Given the description of an element on the screen output the (x, y) to click on. 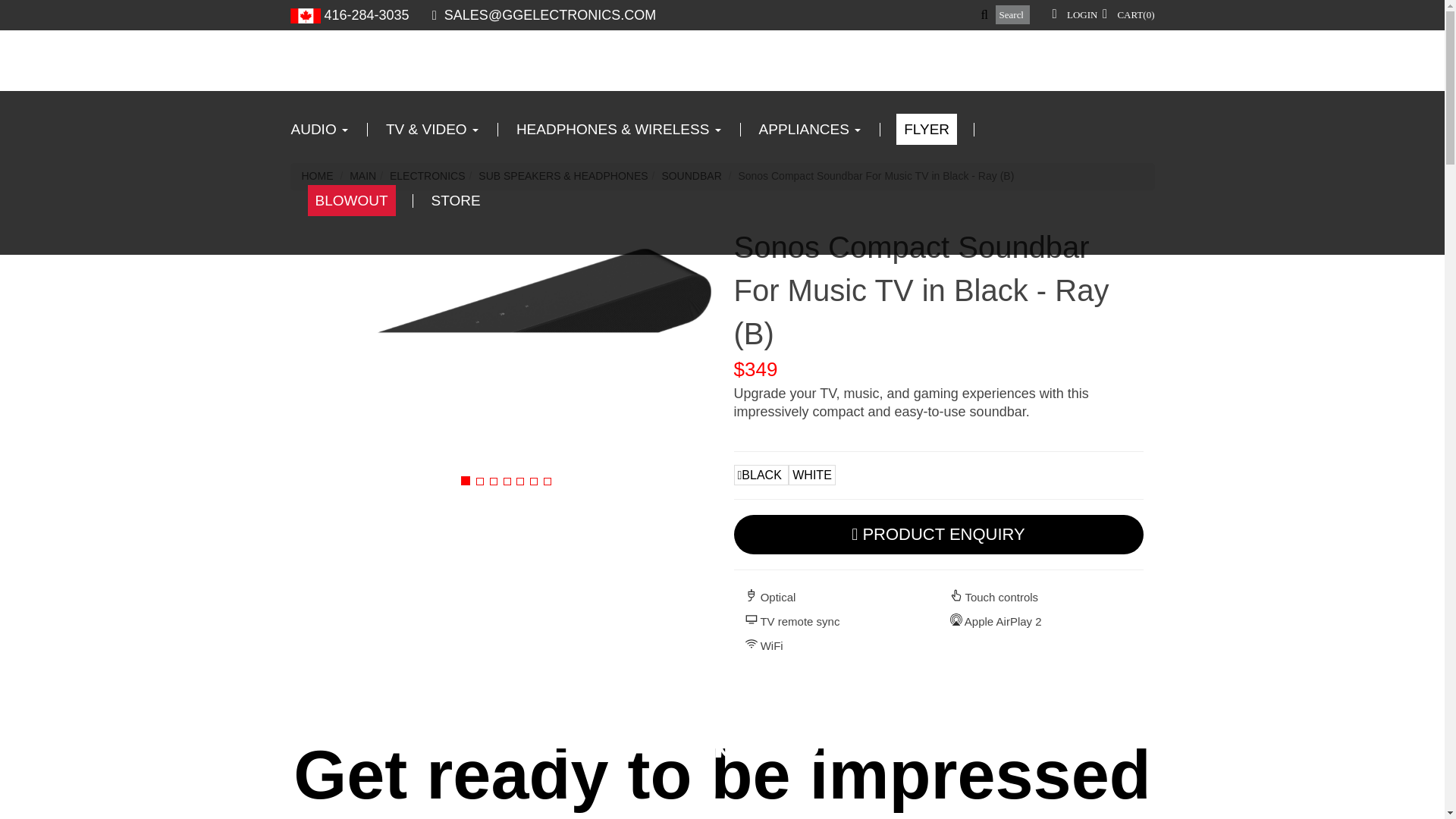
Shipping only in Canada (304, 15)
416-284-3035 (366, 14)
Apple Airplay 2 (954, 619)
AUDIO (328, 129)
null (750, 594)
LOGIN (1082, 14)
Wifi (750, 644)
416-284-3035 (1120, 119)
Touch controls (954, 594)
TV remote sync (750, 619)
Black  (761, 475)
White  (812, 475)
